Given the description of an element on the screen output the (x, y) to click on. 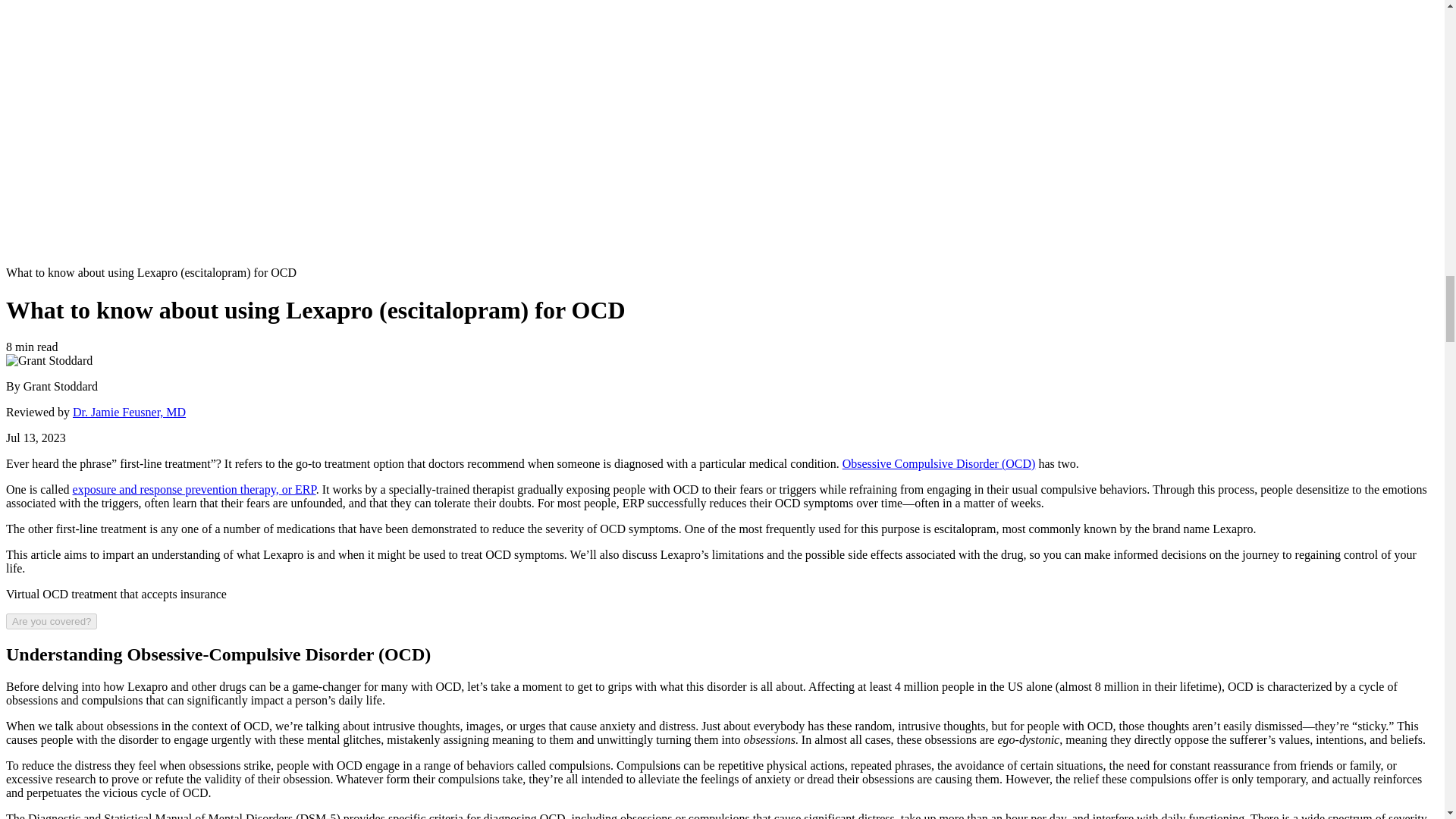
Are you covered? (51, 621)
Dr. Jamie Feusner, MD (129, 411)
exposure and response prevention therapy, or ERP (193, 489)
